Given the description of an element on the screen output the (x, y) to click on. 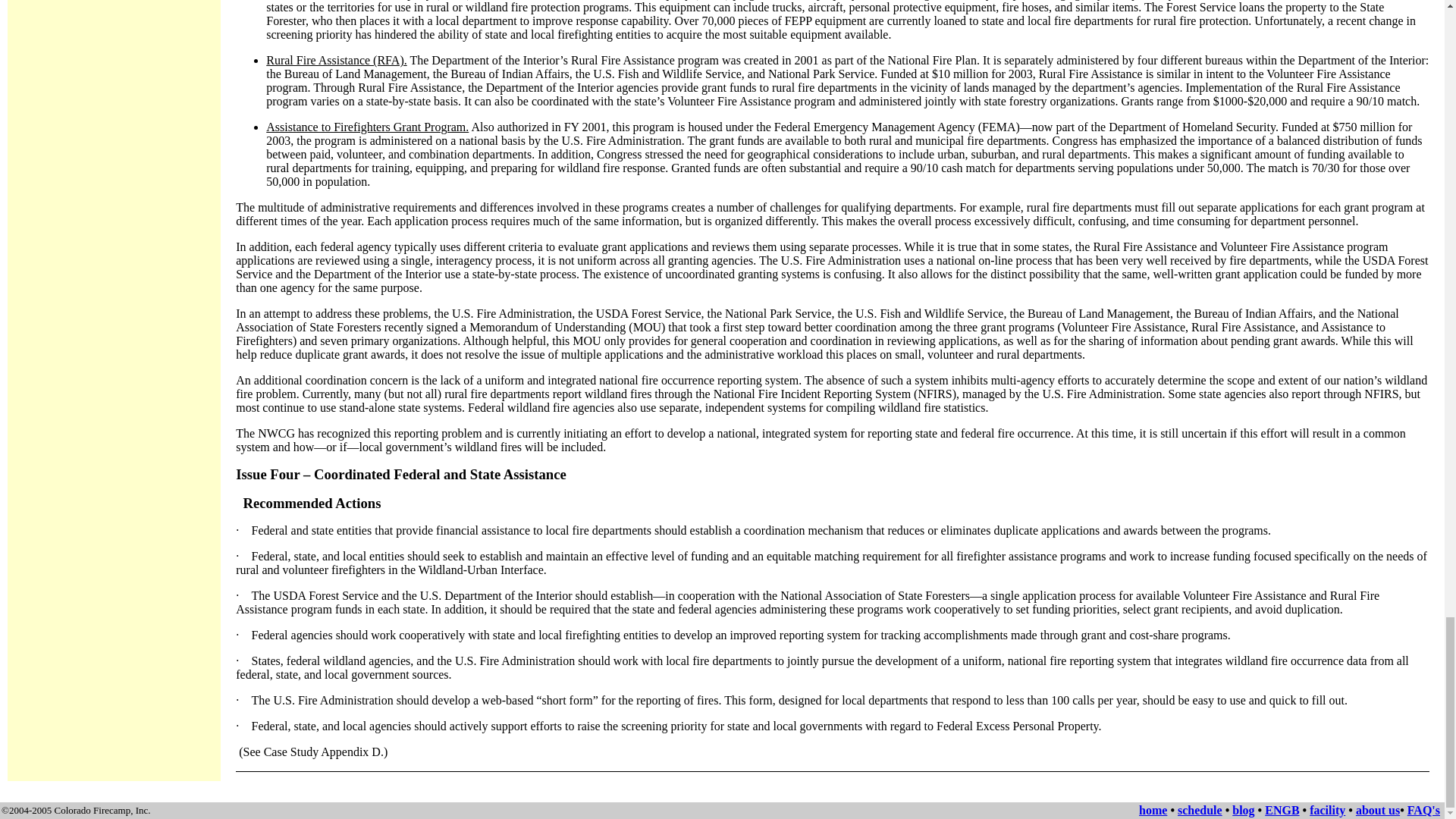
facility (1326, 809)
blog (1242, 809)
ENGB (1281, 809)
home (1152, 809)
about us (1377, 809)
schedule (1200, 809)
FAQ's (1423, 809)
